Given the description of an element on the screen output the (x, y) to click on. 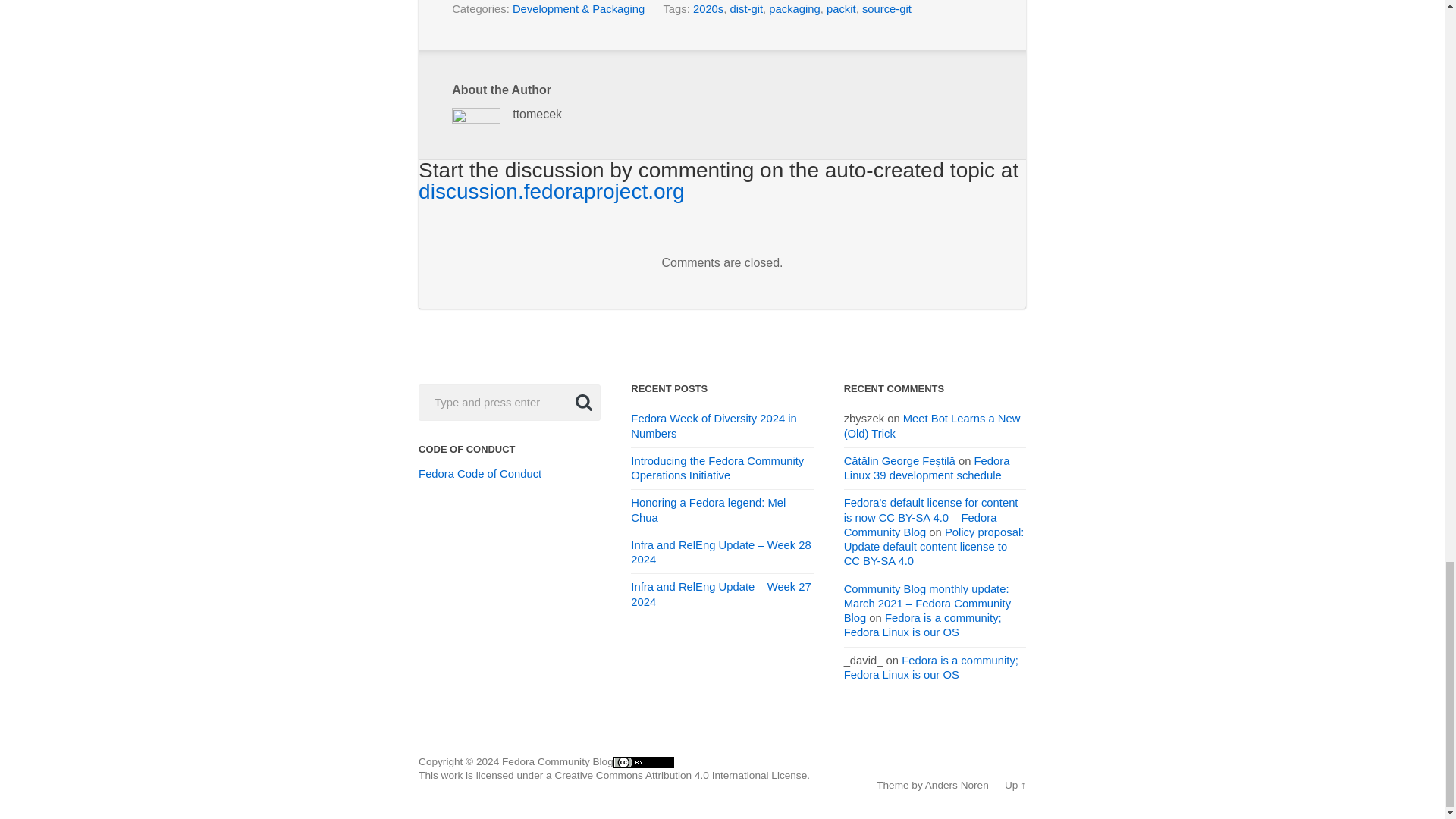
Type and press enter (509, 400)
Type and press enter (509, 400)
